Given the description of an element on the screen output the (x, y) to click on. 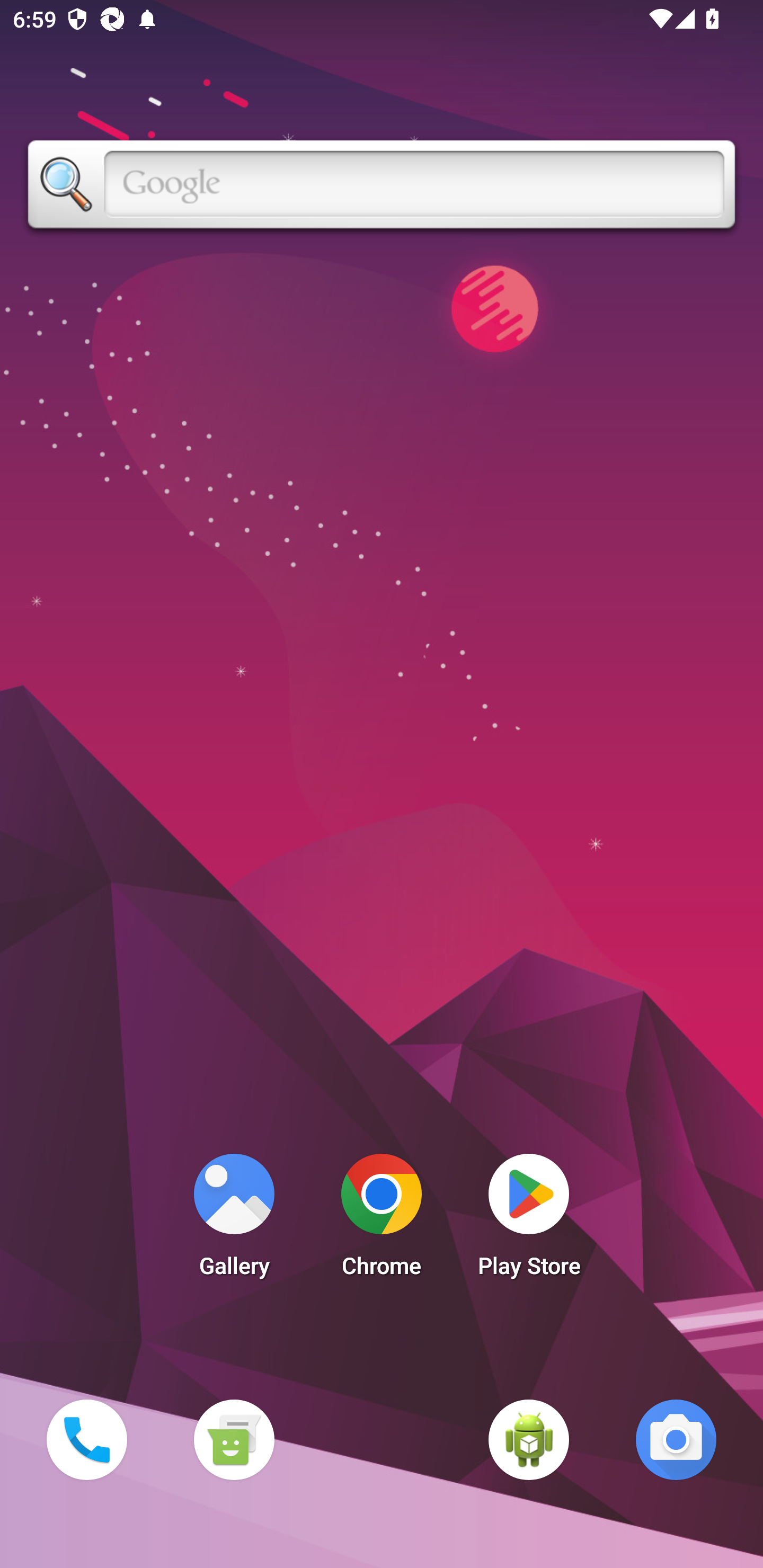
Gallery (233, 1220)
Chrome (381, 1220)
Play Store (528, 1220)
Phone (86, 1439)
Messaging (233, 1439)
WebView Browser Tester (528, 1439)
Camera (676, 1439)
